Given the description of an element on the screen output the (x, y) to click on. 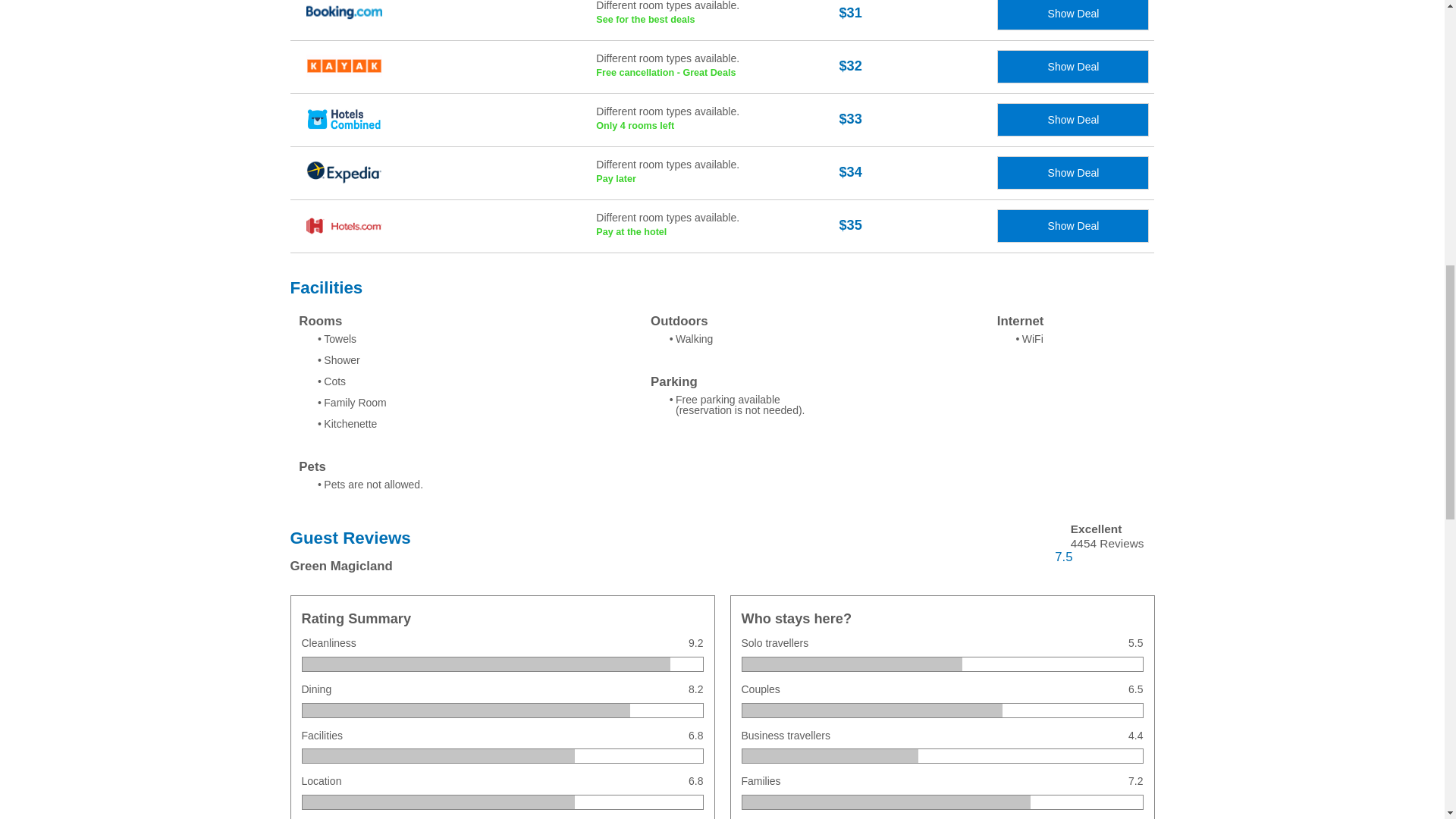
Show Deal (716, 20)
Show Deal (1072, 15)
Show Deal (1072, 119)
Show Deal (1072, 172)
Show Deal (716, 120)
Booking.com (716, 226)
